Given the description of an element on the screen output the (x, y) to click on. 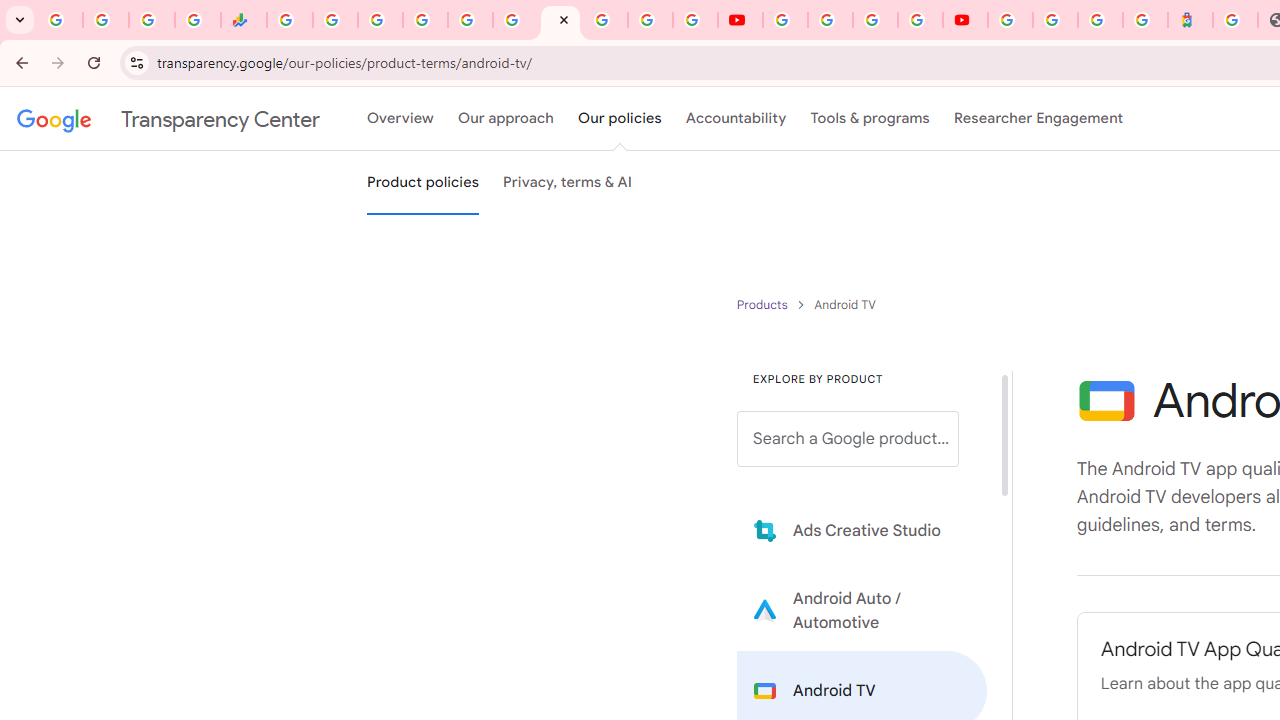
Sign in - Google Accounts (425, 20)
Search a Google product from below list. (847, 439)
Our approach (506, 119)
Learn more about Ads Creative Studio (862, 530)
Google Workspace Admin Community (60, 20)
Product policies (763, 304)
Sign in - Google Accounts (1010, 20)
Sign in - Google Accounts (605, 20)
